Given the description of an element on the screen output the (x, y) to click on. 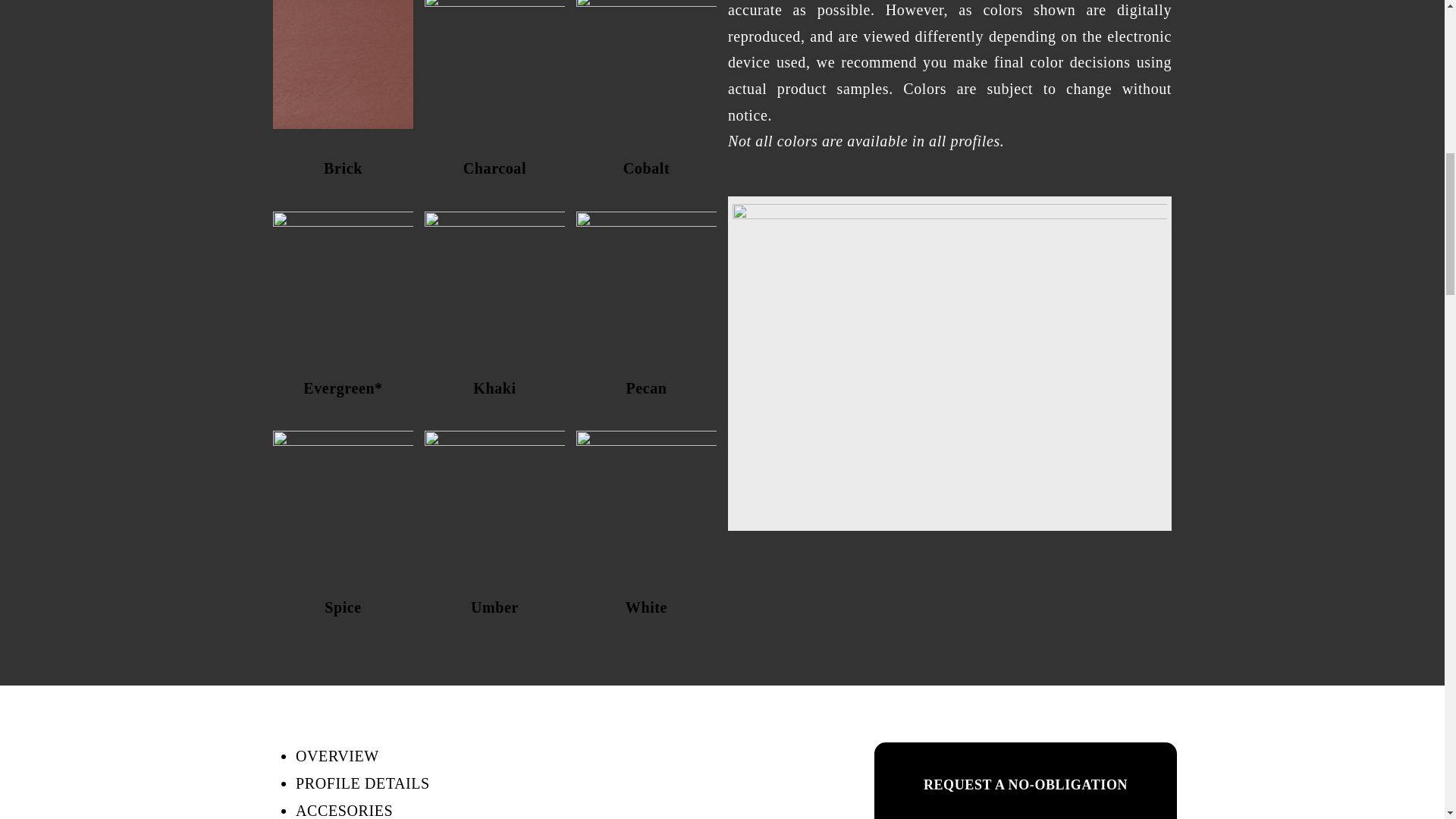
Cobalt (646, 64)
Spice2 (343, 497)
ACCESORIES (344, 810)
Brick (343, 64)
Khaki (494, 278)
Umber (494, 497)
Pecan2 (646, 278)
Evergreen2 (343, 278)
Charcoal (494, 64)
PROFILE DETAILS (362, 782)
White (646, 497)
OVERVIEW (336, 755)
